Given the description of an element on the screen output the (x, y) to click on. 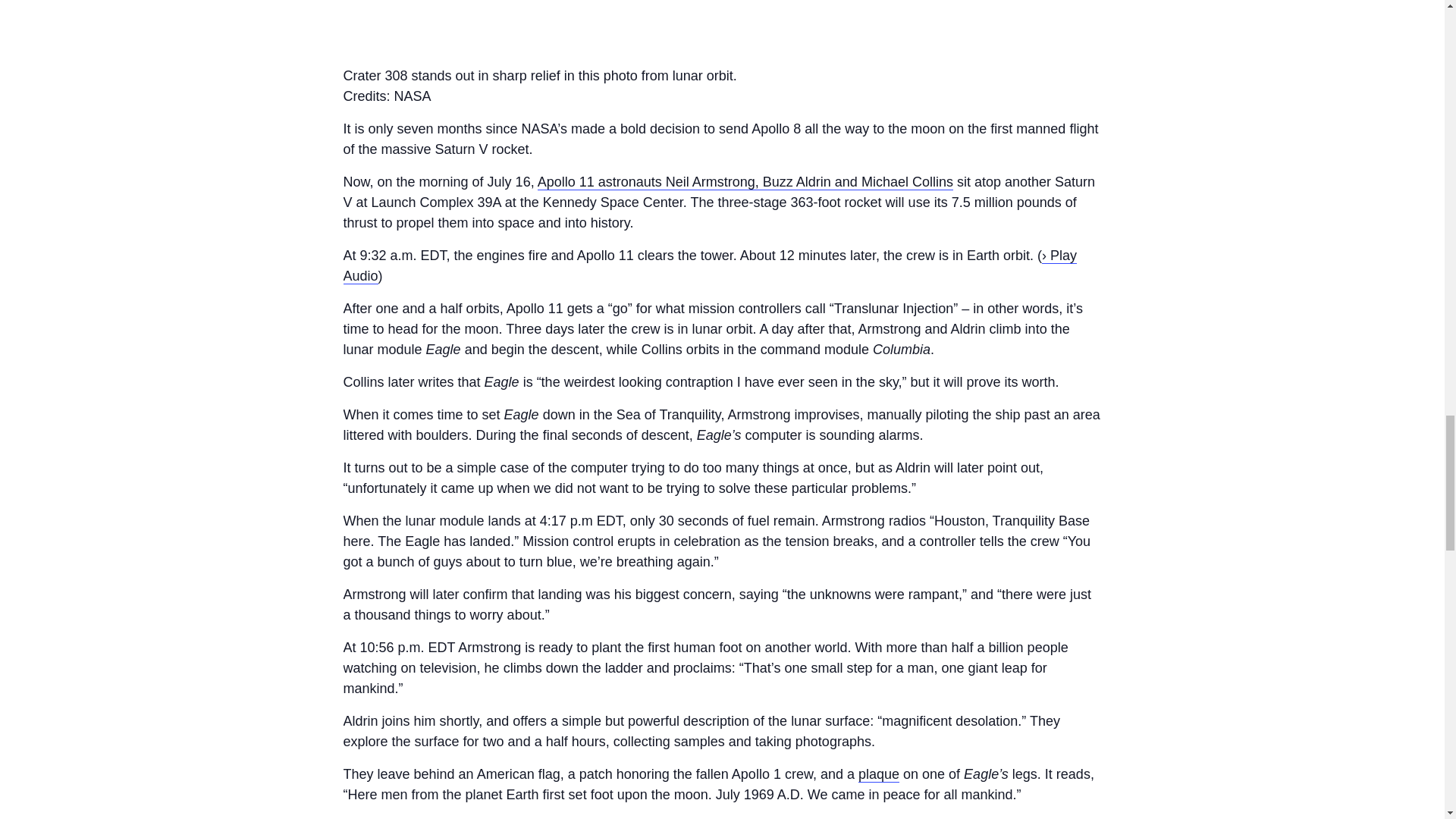
plaque (879, 774)
